Given the description of an element on the screen output the (x, y) to click on. 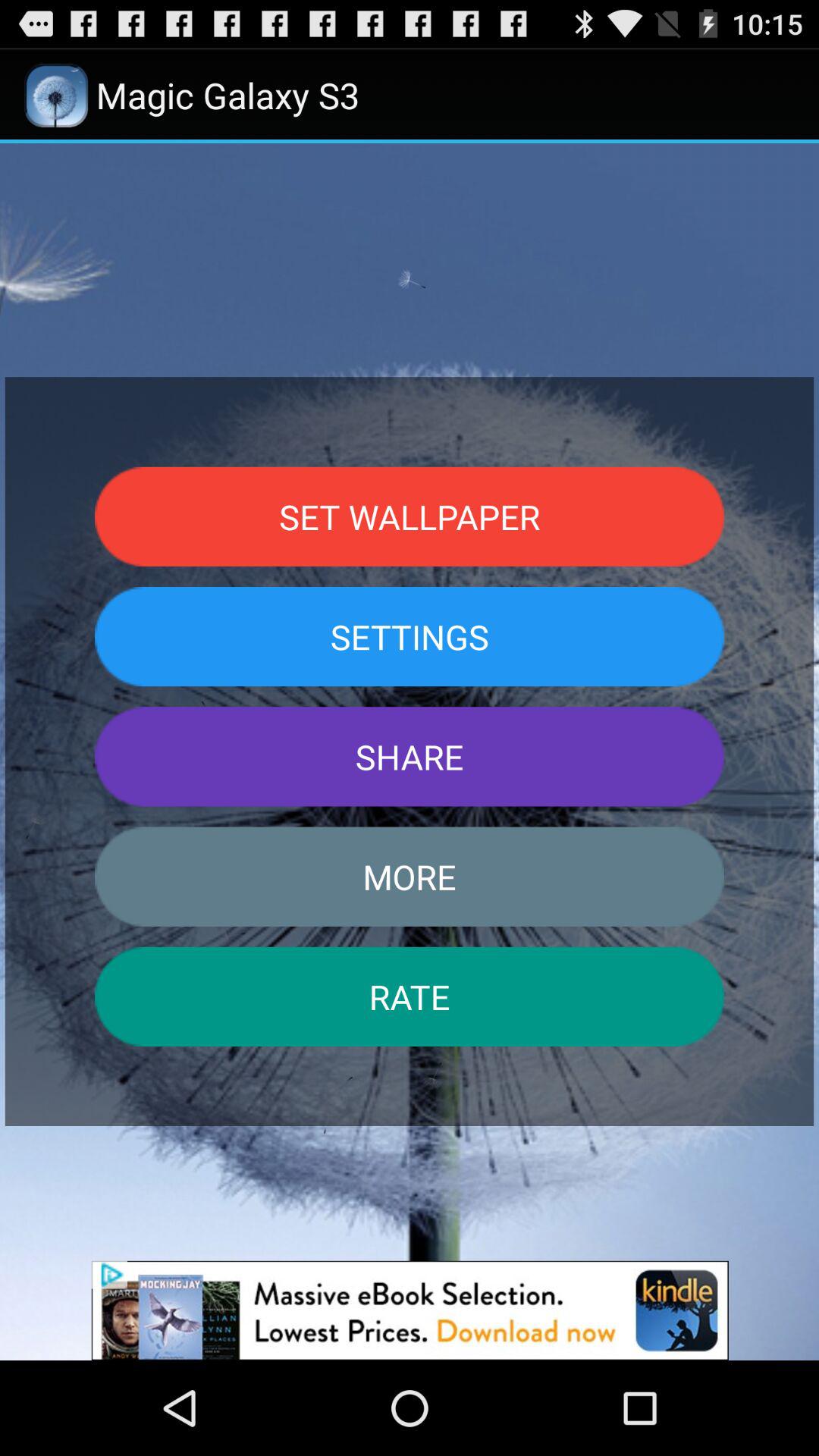
launch the icon below the rate item (409, 1310)
